Given the description of an element on the screen output the (x, y) to click on. 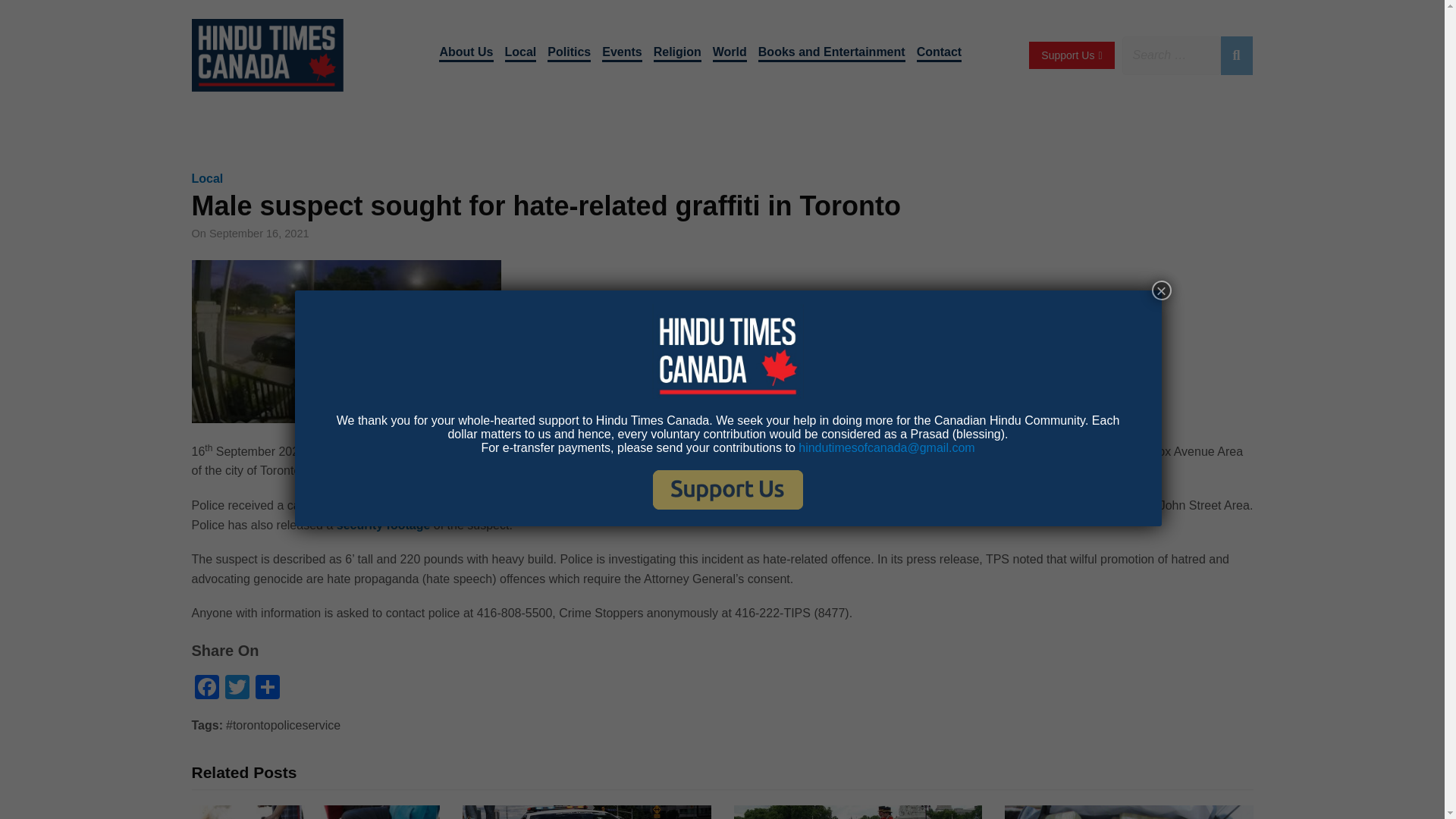
Facebook (205, 688)
security footage (383, 524)
World (729, 54)
Twitter (236, 688)
Politics (569, 54)
Share (266, 688)
Toronto Police Service (383, 451)
About Us (466, 54)
Religion (677, 54)
Local (521, 54)
Local (206, 178)
Books and Entertainment (831, 54)
Twitter (236, 688)
Events (622, 54)
Support Us (1071, 55)
